Given the description of an element on the screen output the (x, y) to click on. 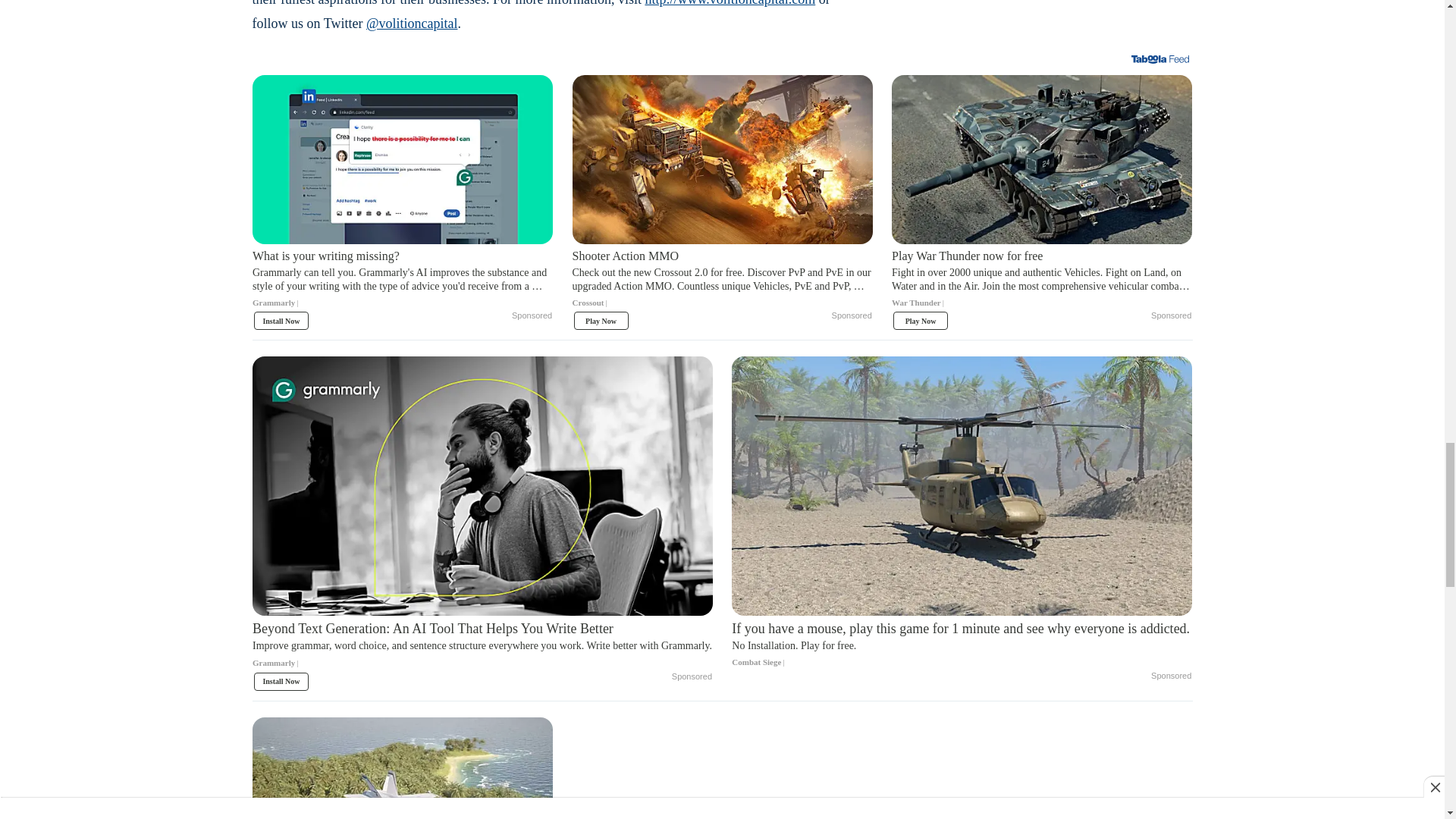
What is your writing missing? (402, 284)
Shooter Action MMO (722, 284)
Shooter Action MMO (722, 159)
What is your writing missing? (402, 159)
Play War Thunder now for free (1041, 159)
Play War Thunder now for free (1041, 284)
